Given the description of an element on the screen output the (x, y) to click on. 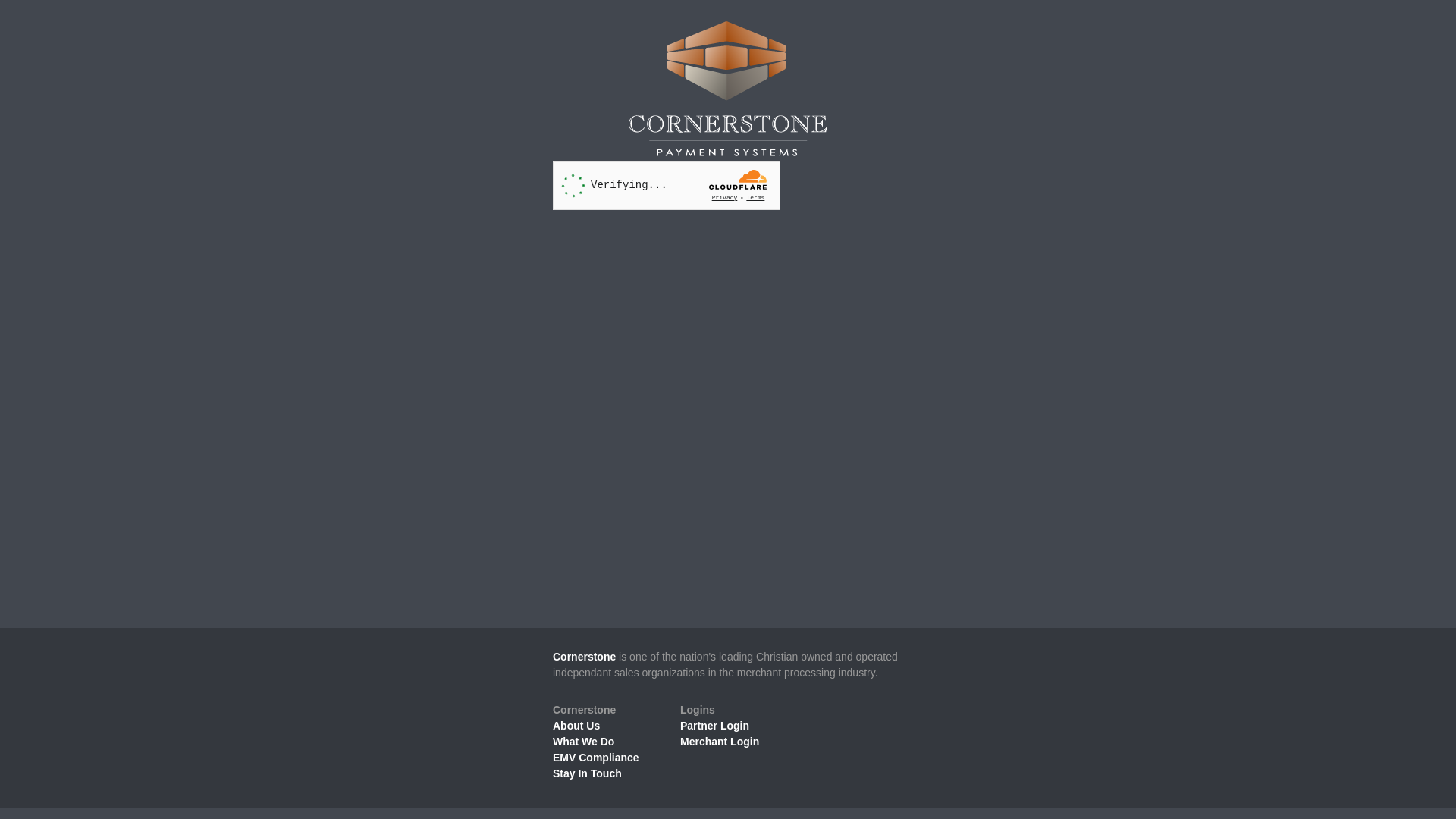
Merchant Login Element type: text (719, 741)
Stay In Touch Element type: text (586, 773)
About Us Element type: text (575, 725)
Partner Login Element type: text (714, 725)
What We Do Element type: text (583, 741)
Cornerstone Element type: text (583, 656)
Widget containing a Cloudflare security challenge Element type: hover (666, 185)
EMV Compliance Element type: text (595, 757)
